Given the description of an element on the screen output the (x, y) to click on. 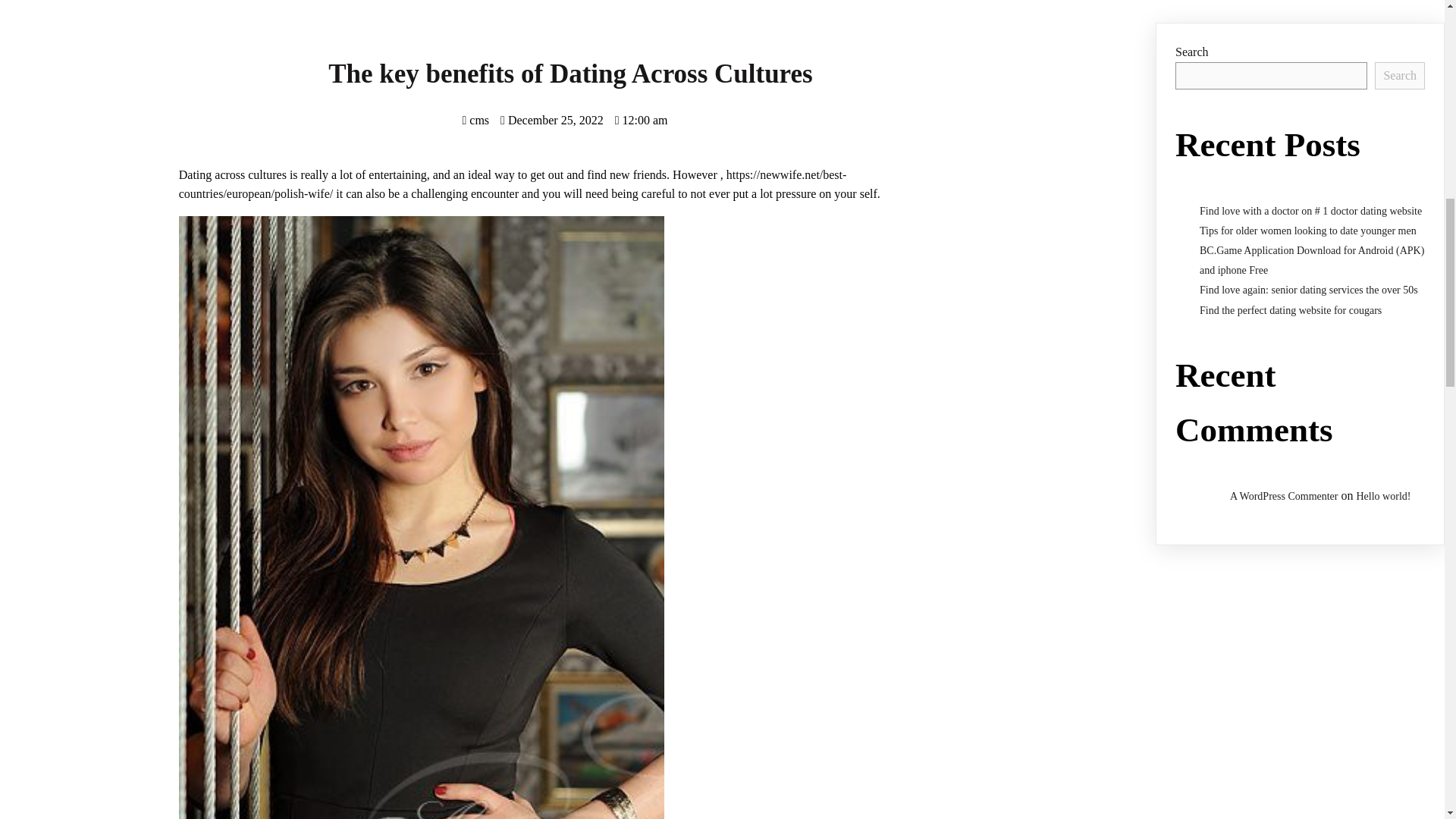
Find love again: senior dating services the over 50s (1308, 289)
Search (1399, 75)
A WordPress Commenter (1284, 496)
Tips for older women looking to date younger men (1307, 230)
cms (475, 119)
Find the perfect dating website for cougars (1290, 310)
December 25, 2022 (552, 119)
Hello world! (1382, 496)
12:00 am (641, 119)
